Given the description of an element on the screen output the (x, y) to click on. 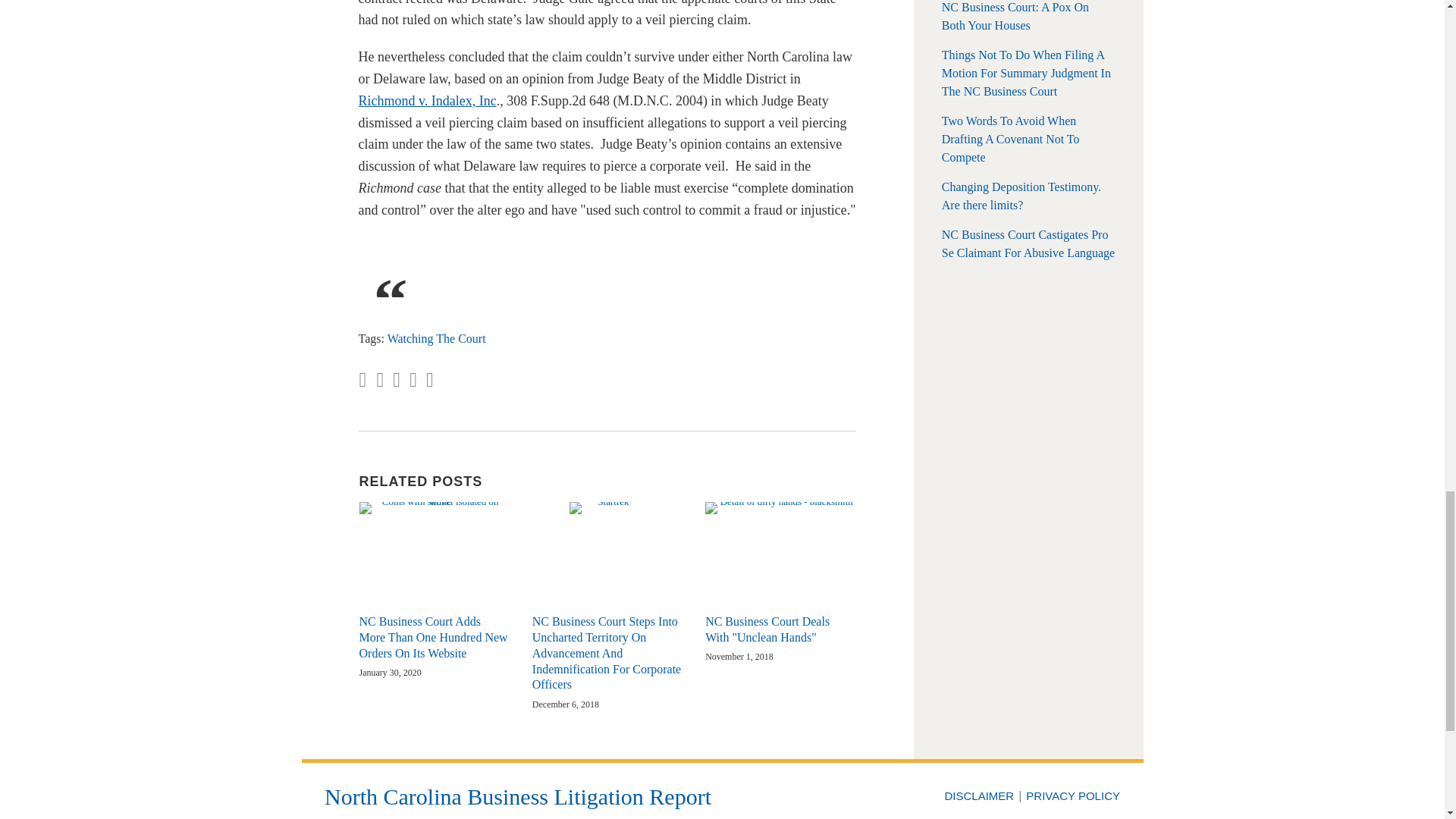
Richmond v. Indalex, Inc (427, 100)
Watching The Court (436, 338)
NC Business Court Deals With "Unclean Hands" (780, 630)
